Given the description of an element on the screen output the (x, y) to click on. 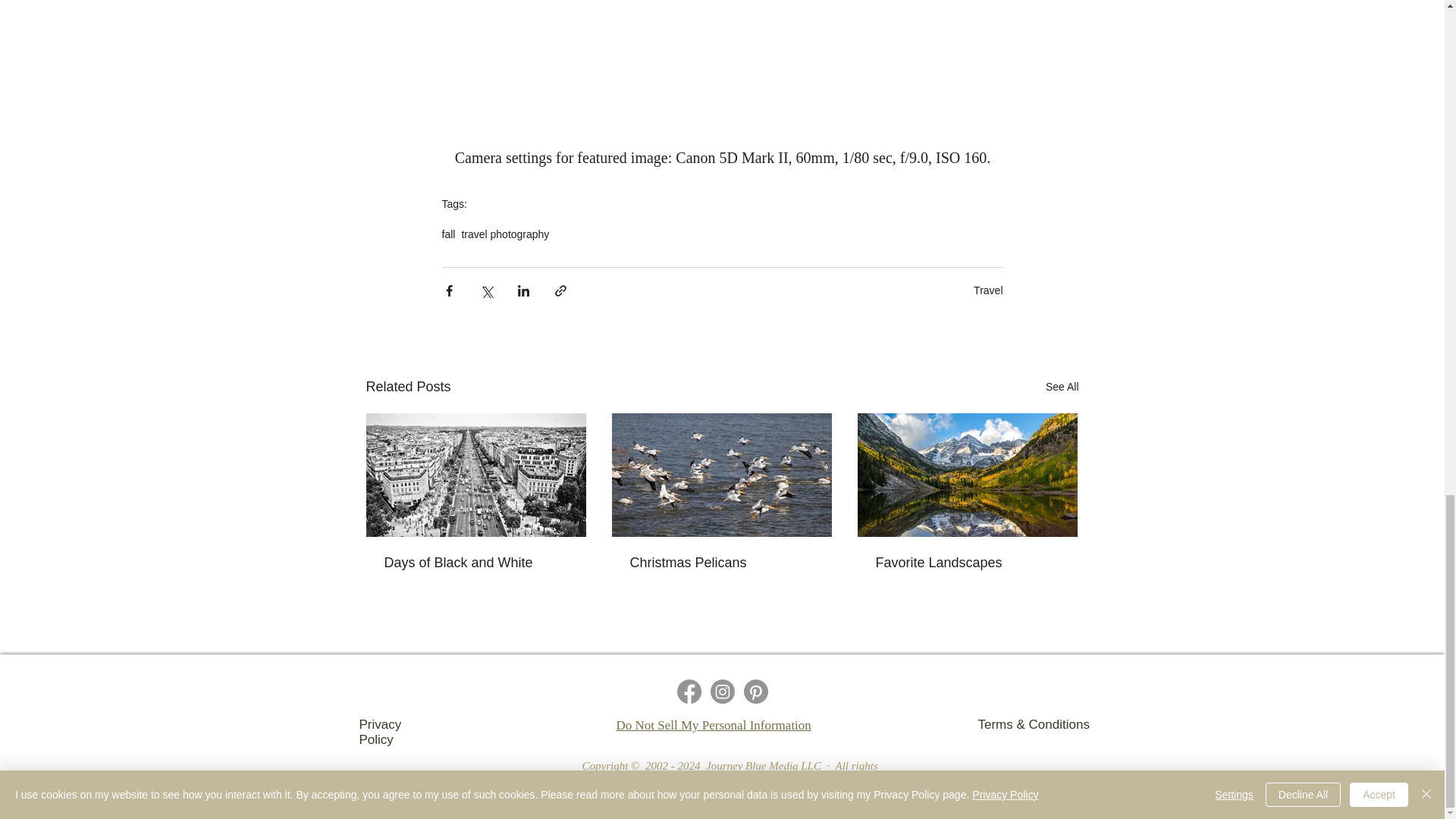
Travel (988, 290)
Days of Black and White (475, 562)
travel photography (504, 234)
Favorite Landscapes (966, 562)
See All (1061, 386)
Christmas Pelicans (720, 562)
Privacy Policy (380, 731)
Do Not Sell My Personal Information (712, 725)
fall (447, 234)
